Given the description of an element on the screen output the (x, y) to click on. 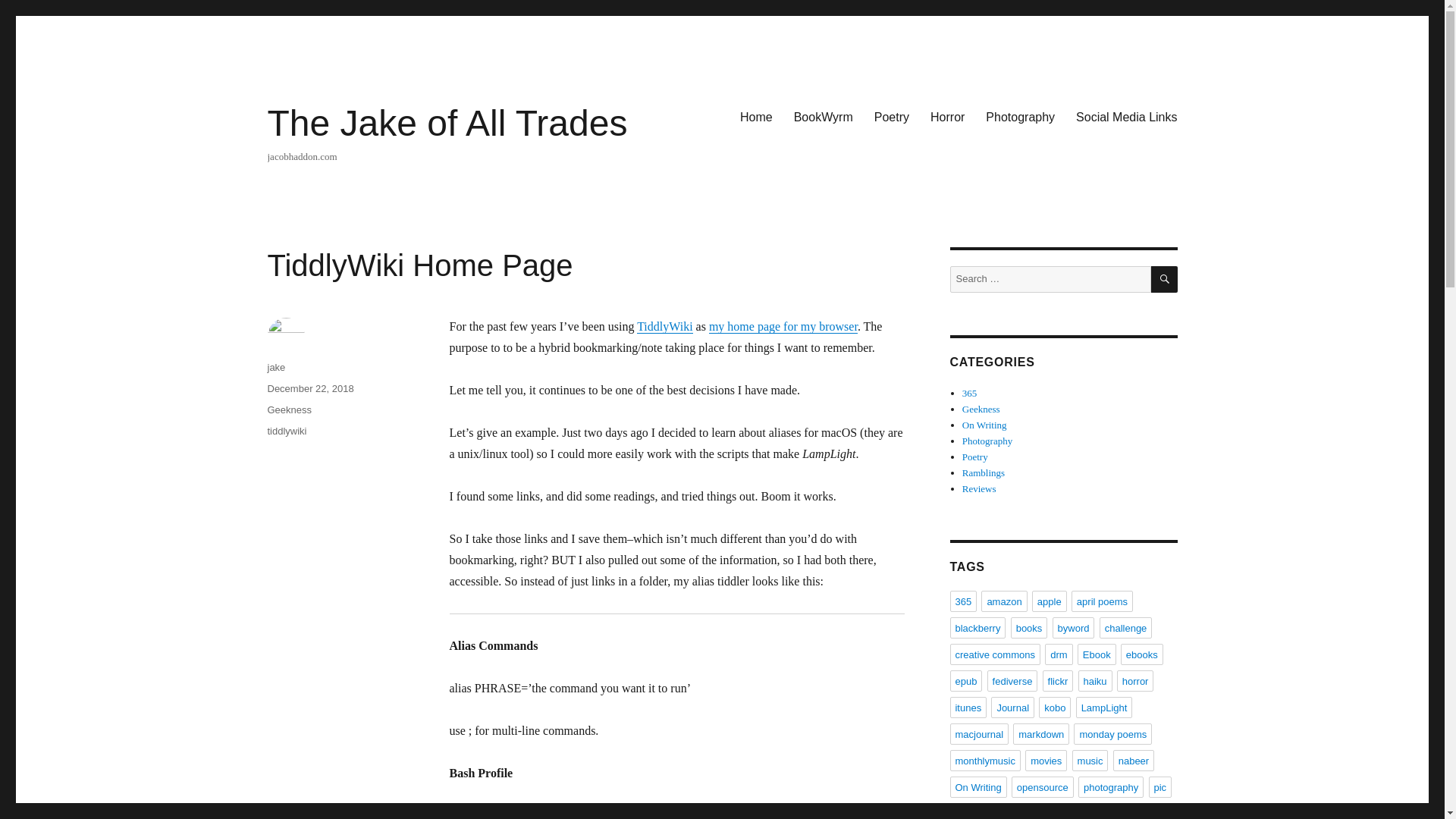
Reviews (978, 488)
SEARCH (1164, 279)
books (1029, 627)
blackberry (977, 627)
TiddlyWiki (665, 326)
april poems (1101, 600)
Ramblings (983, 472)
creative commons (994, 654)
Ebook (1096, 654)
drm (1058, 654)
BookWyrm (823, 116)
jake (275, 367)
365 (962, 600)
Geekness (981, 408)
Photography (986, 440)
